Given the description of an element on the screen output the (x, y) to click on. 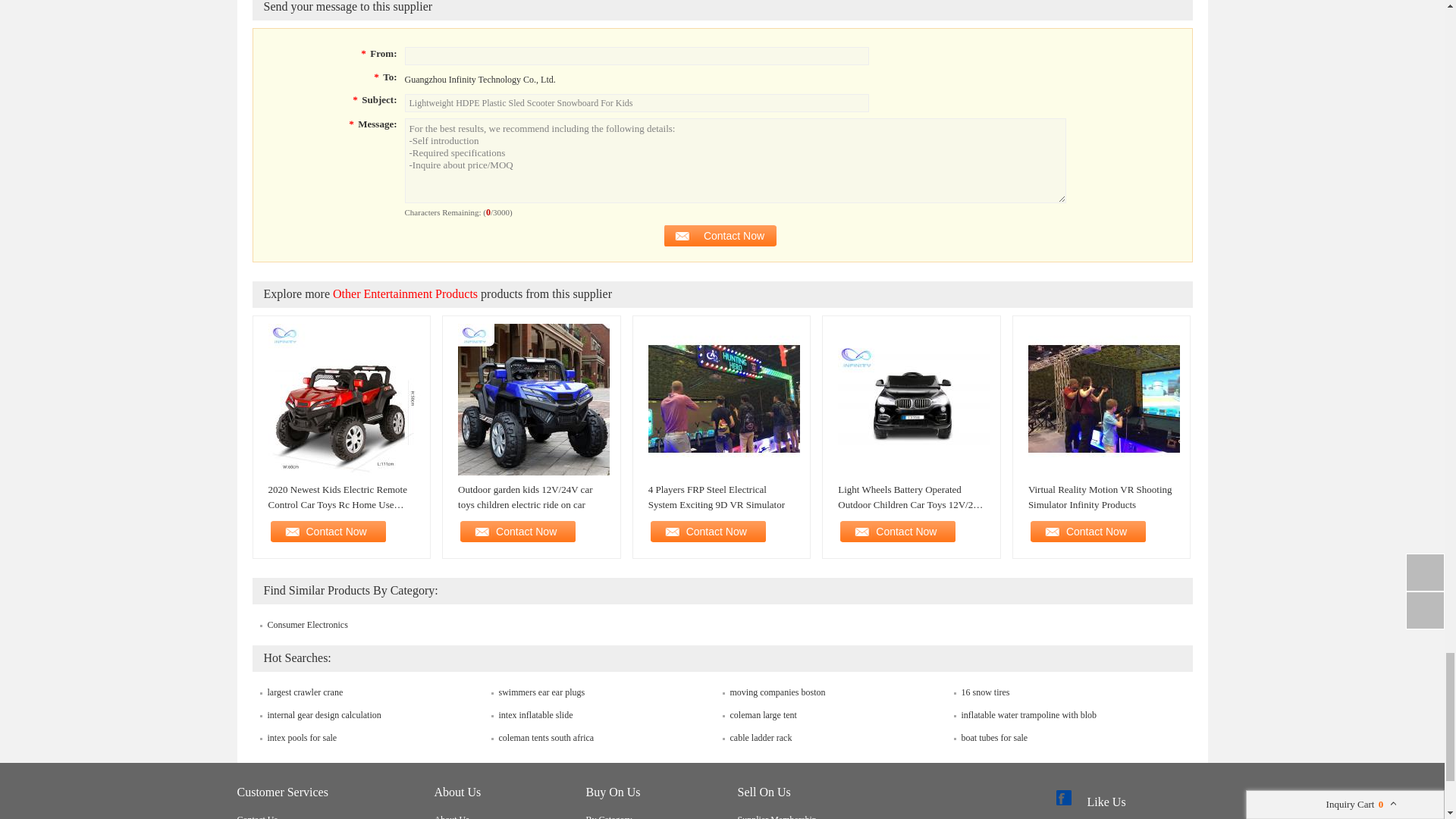
Contact Now (1085, 531)
Contact Now (516, 531)
Contact Now (720, 235)
Contact Now (325, 531)
Contact Now (705, 531)
Contact Now (895, 531)
Lightweight HDPE Plastic Sled Scooter Snowboard For Kids (636, 103)
